Given the description of an element on the screen output the (x, y) to click on. 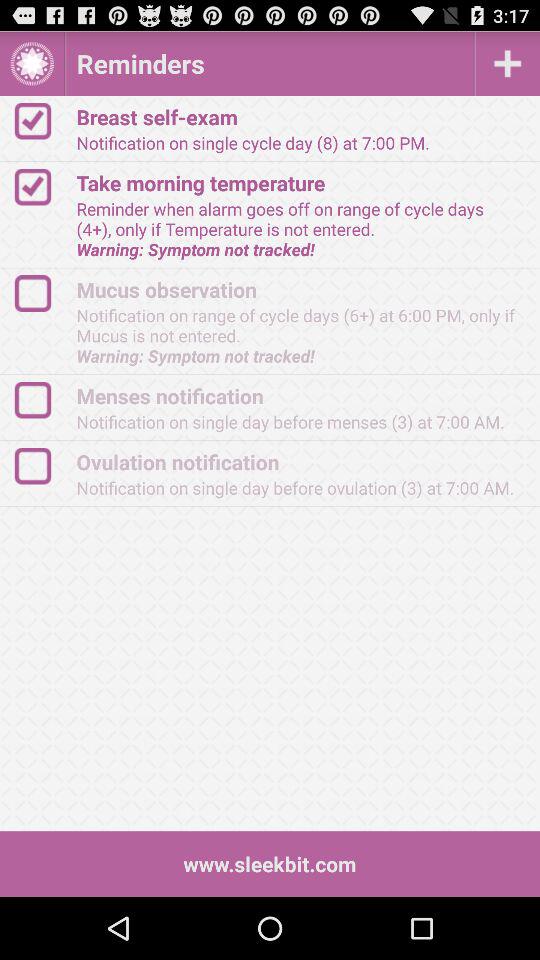
click to check box (41, 120)
